Given the description of an element on the screen output the (x, y) to click on. 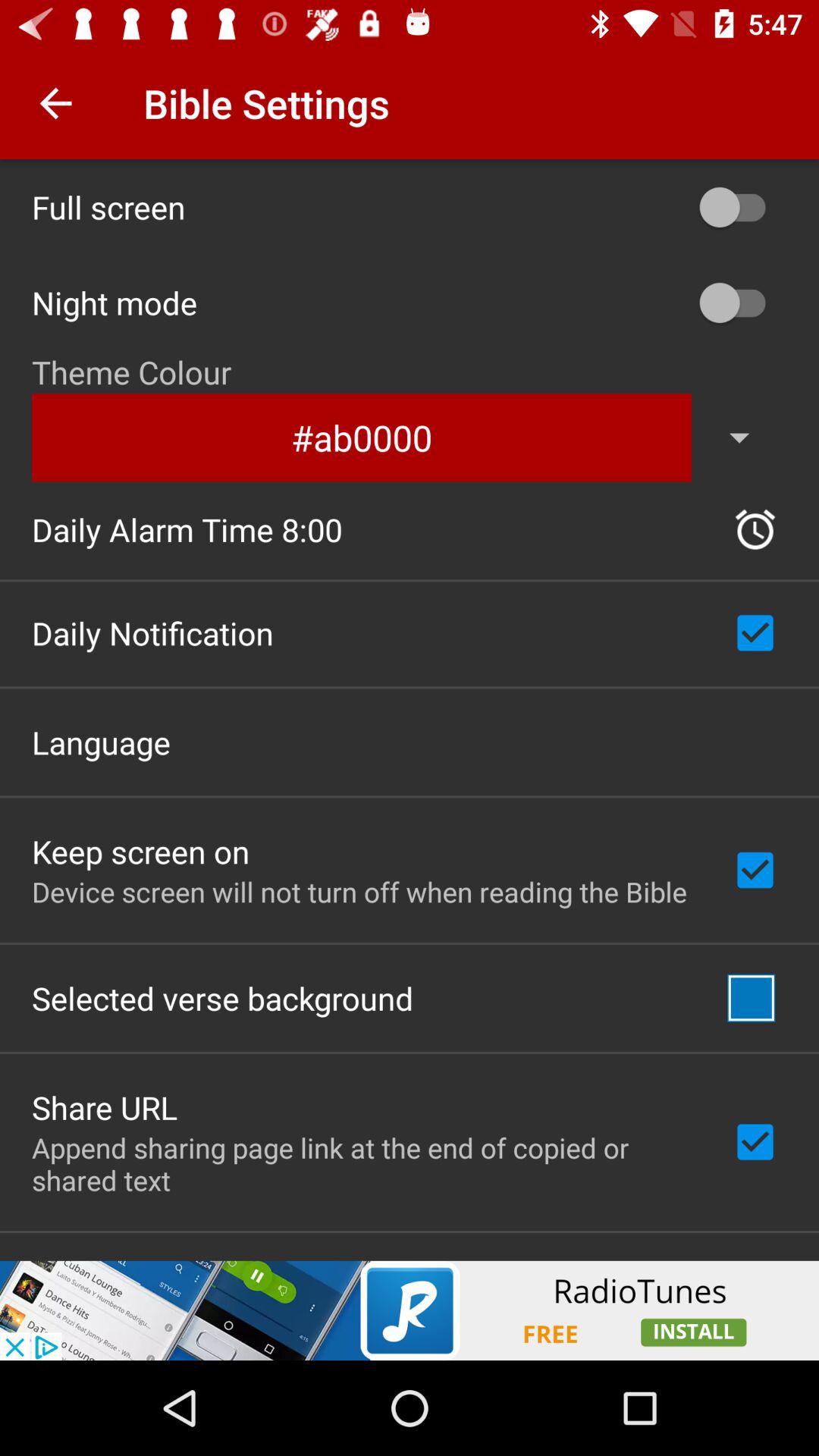
on/off daily alarm (755, 529)
